Given the description of an element on the screen output the (x, y) to click on. 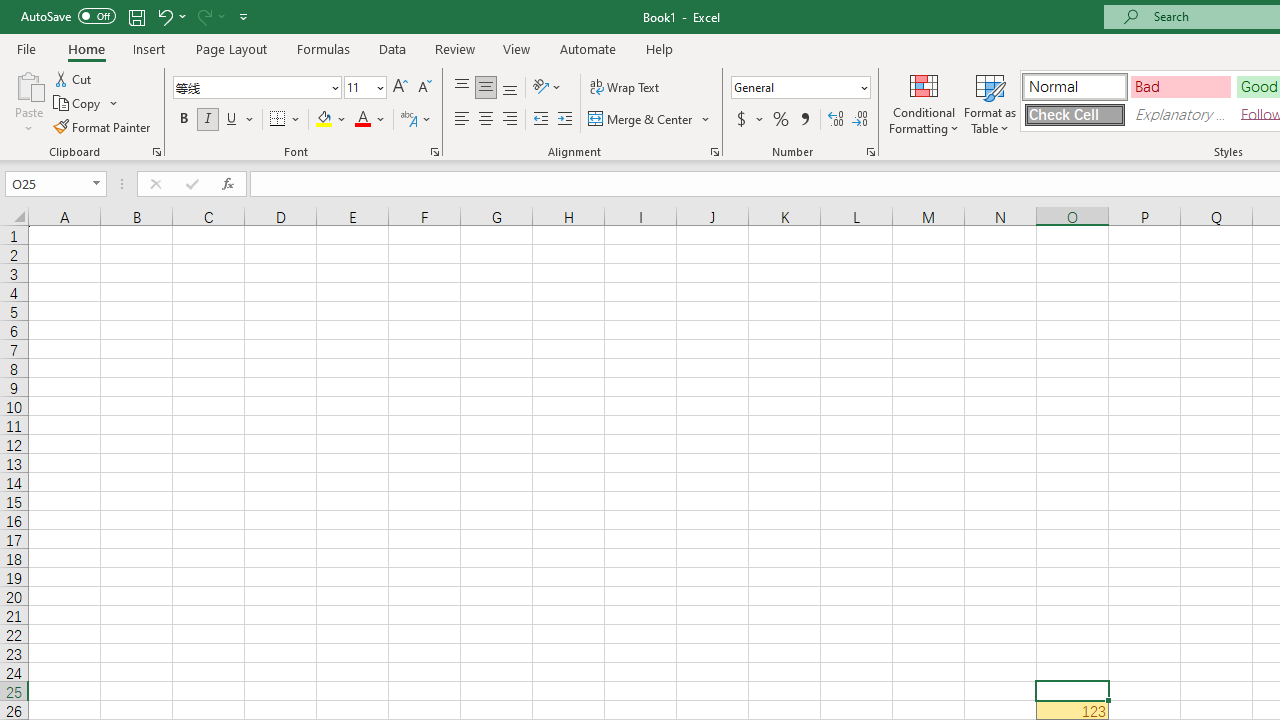
Borders (285, 119)
Percent Style (781, 119)
Format as Table (990, 102)
Format Cell Number (870, 151)
Top Align (461, 87)
Copy (78, 103)
Bad (1180, 86)
Font Color RGB(255, 0, 0) (362, 119)
Paste (28, 84)
Number Format (794, 87)
